Given the description of an element on the screen output the (x, y) to click on. 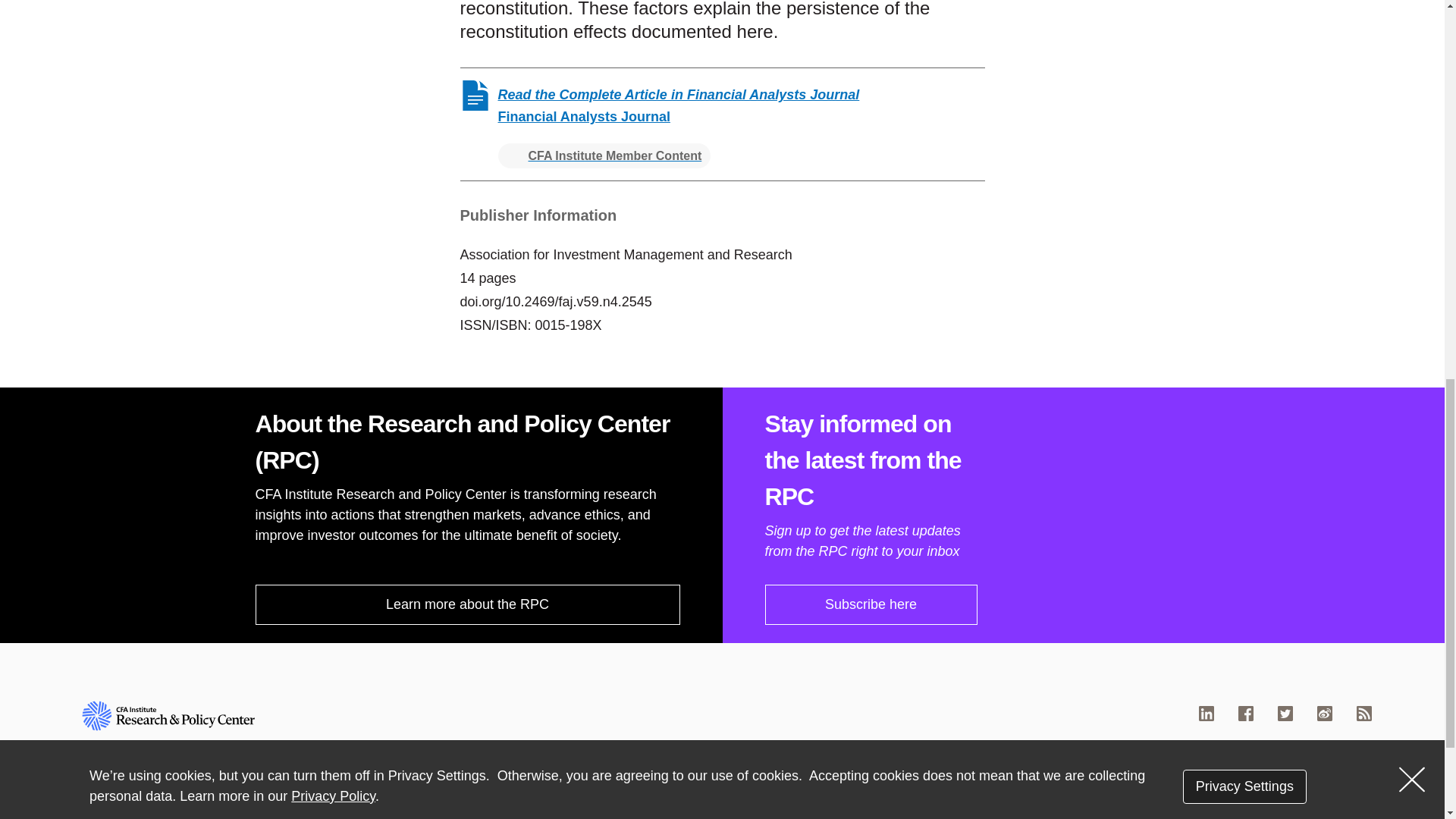
CFA Institute Research and Policy Center RSS (1363, 713)
Weibo Page (1324, 713)
Facebook Page (1246, 713)
Linkedin Page (1206, 713)
Twitter Page (1285, 713)
Terms and Conditions (876, 817)
Sitemap (978, 817)
Privacy Policy (756, 817)
